Given the description of an element on the screen output the (x, y) to click on. 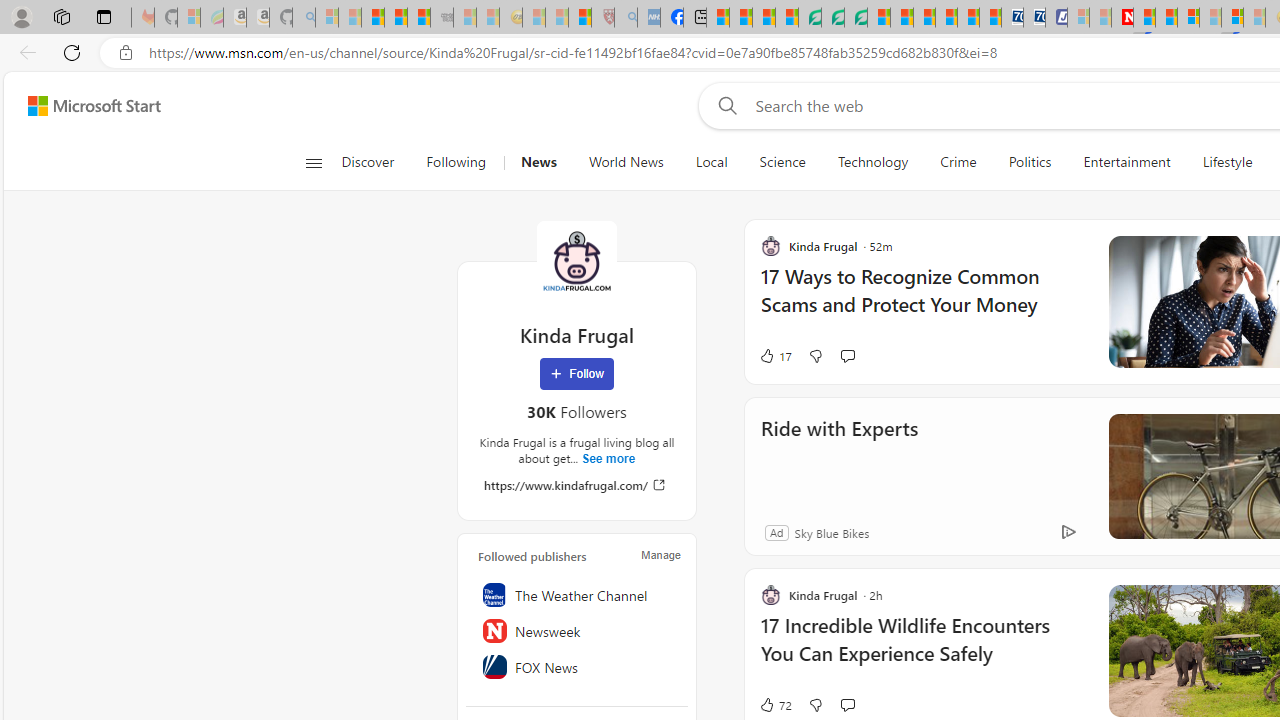
Follow (577, 373)
World News (625, 162)
https://www.kindafrugal.com/ (576, 484)
Following (457, 162)
Local (710, 162)
Sky Blue Bikes (831, 532)
Politics (1030, 162)
Ad (776, 532)
News (538, 162)
Dislike (815, 704)
